Given the description of an element on the screen output the (x, y) to click on. 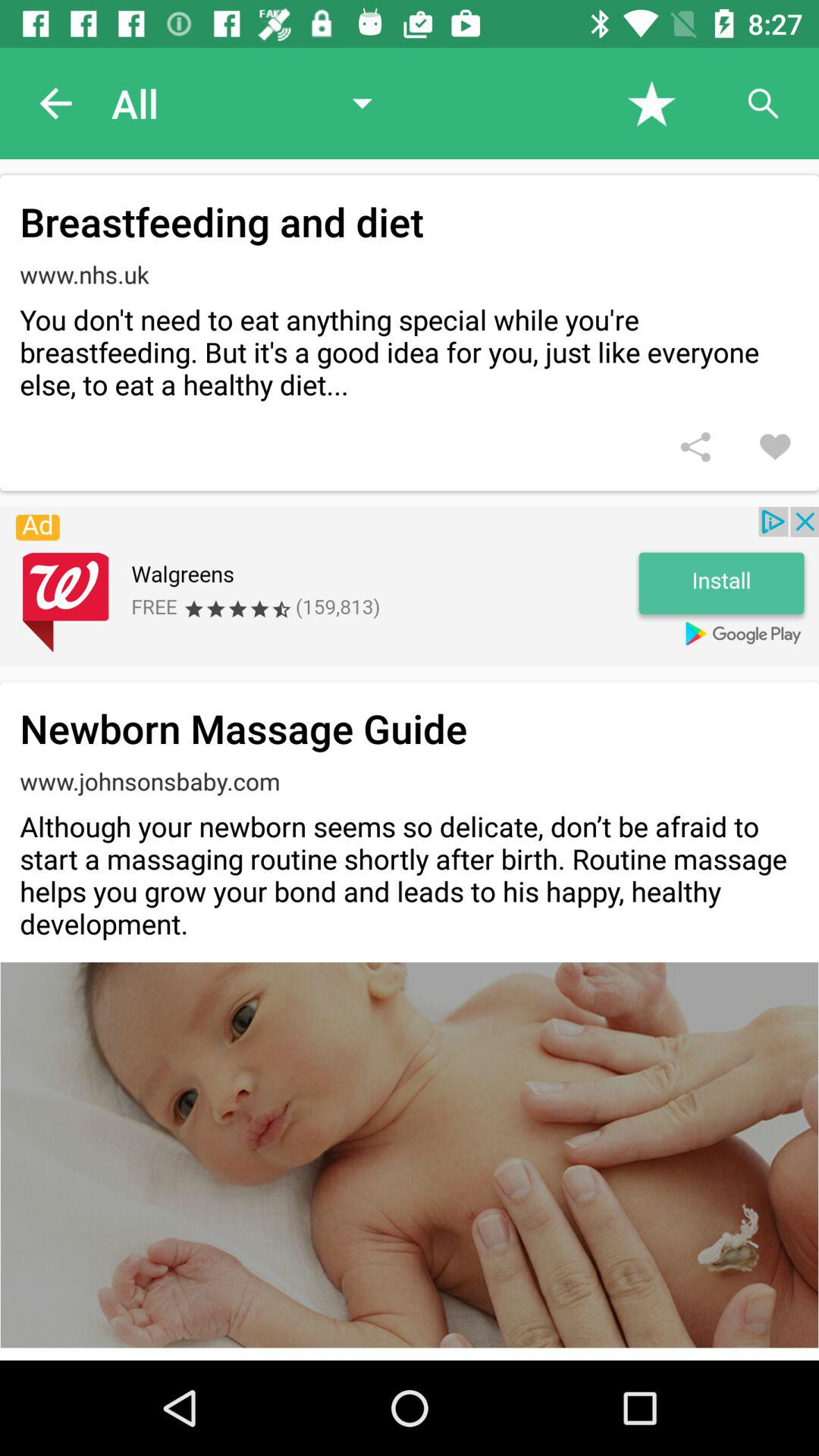
shows share icon (695, 446)
